Given the description of an element on the screen output the (x, y) to click on. 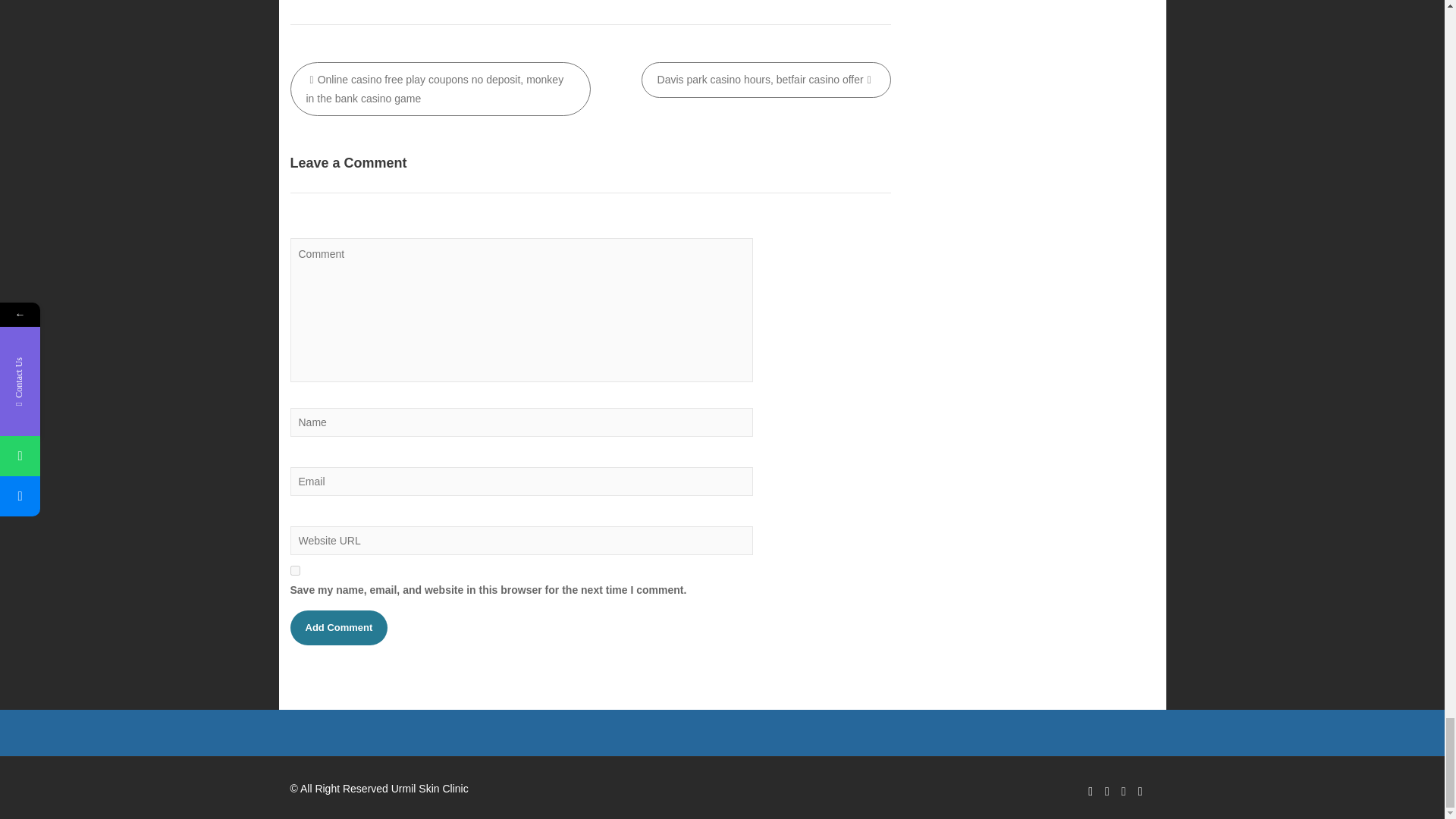
yes (294, 570)
Davis park casino hours, betfair casino offer (766, 79)
Add Comment (338, 627)
Add Comment (338, 627)
